Given the description of an element on the screen output the (x, y) to click on. 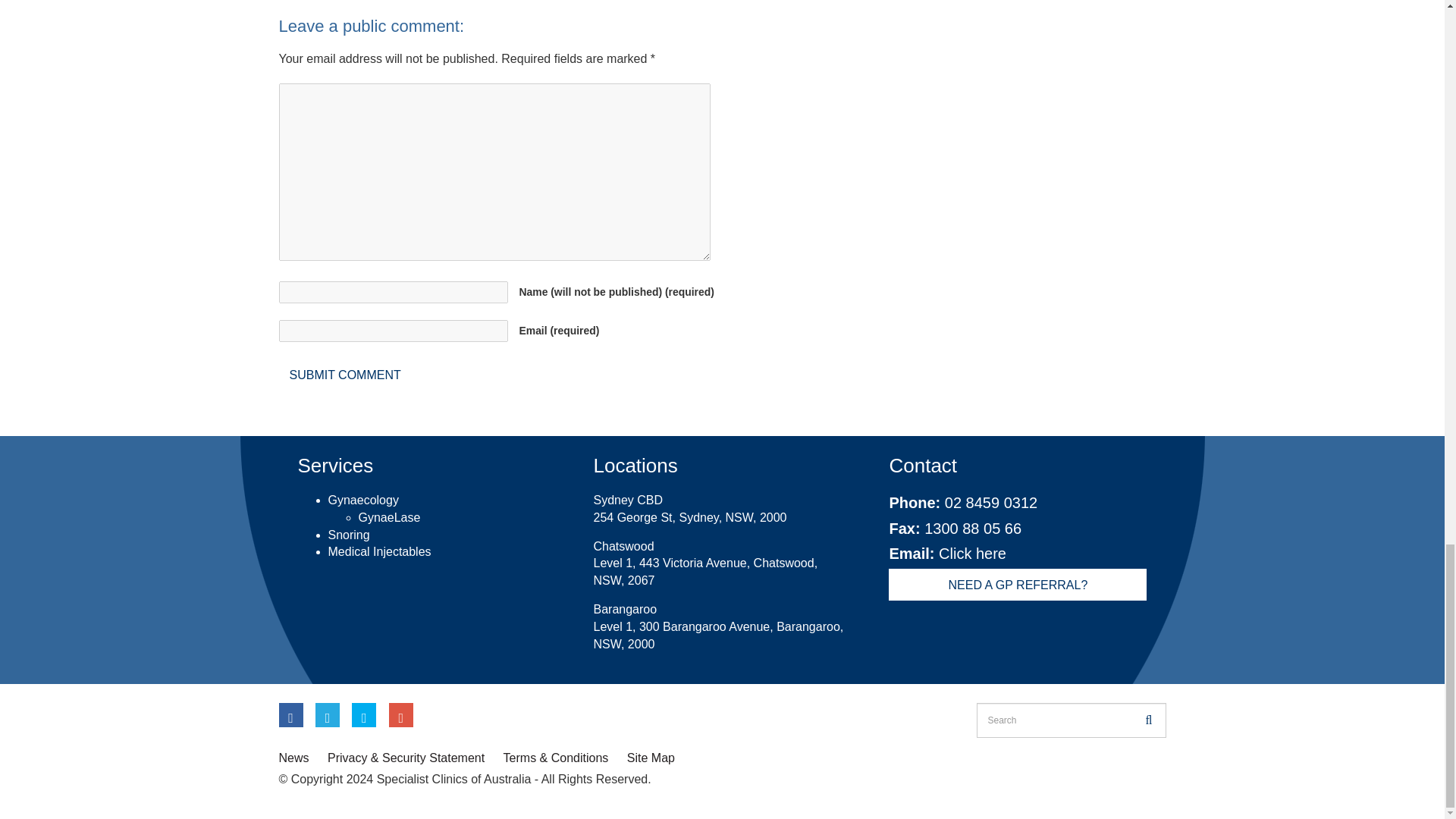
Submit Comment (345, 374)
Submit Comment (345, 374)
